Given the description of an element on the screen output the (x, y) to click on. 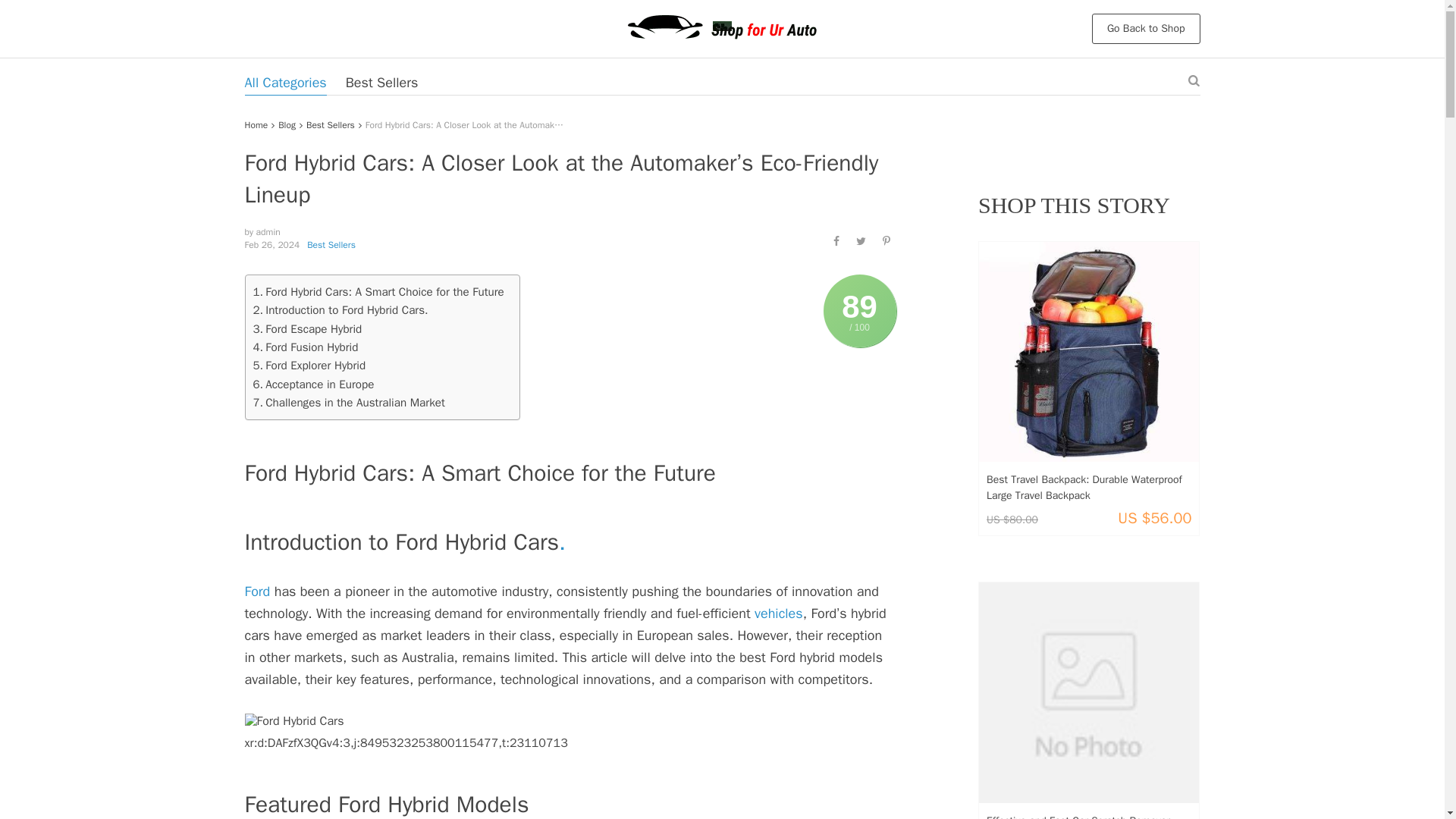
All Categories (285, 82)
. (562, 541)
Best Sellers (382, 82)
Best Sellers (330, 124)
Ford Hybrid Cars: A Smart Choice for the Future (378, 291)
Introduction to Ford Hybrid Cars. (340, 310)
Best Sellers (331, 244)
Ford Explorer Hybrid (309, 365)
Home (255, 124)
Ford Escape Hybrid (307, 329)
Challenges in the Australian Market (349, 402)
vehicles (778, 613)
Acceptance in Europe (313, 384)
Go Back to Shop (1145, 28)
Acceptance in Europe (313, 384)
